Given the description of an element on the screen output the (x, y) to click on. 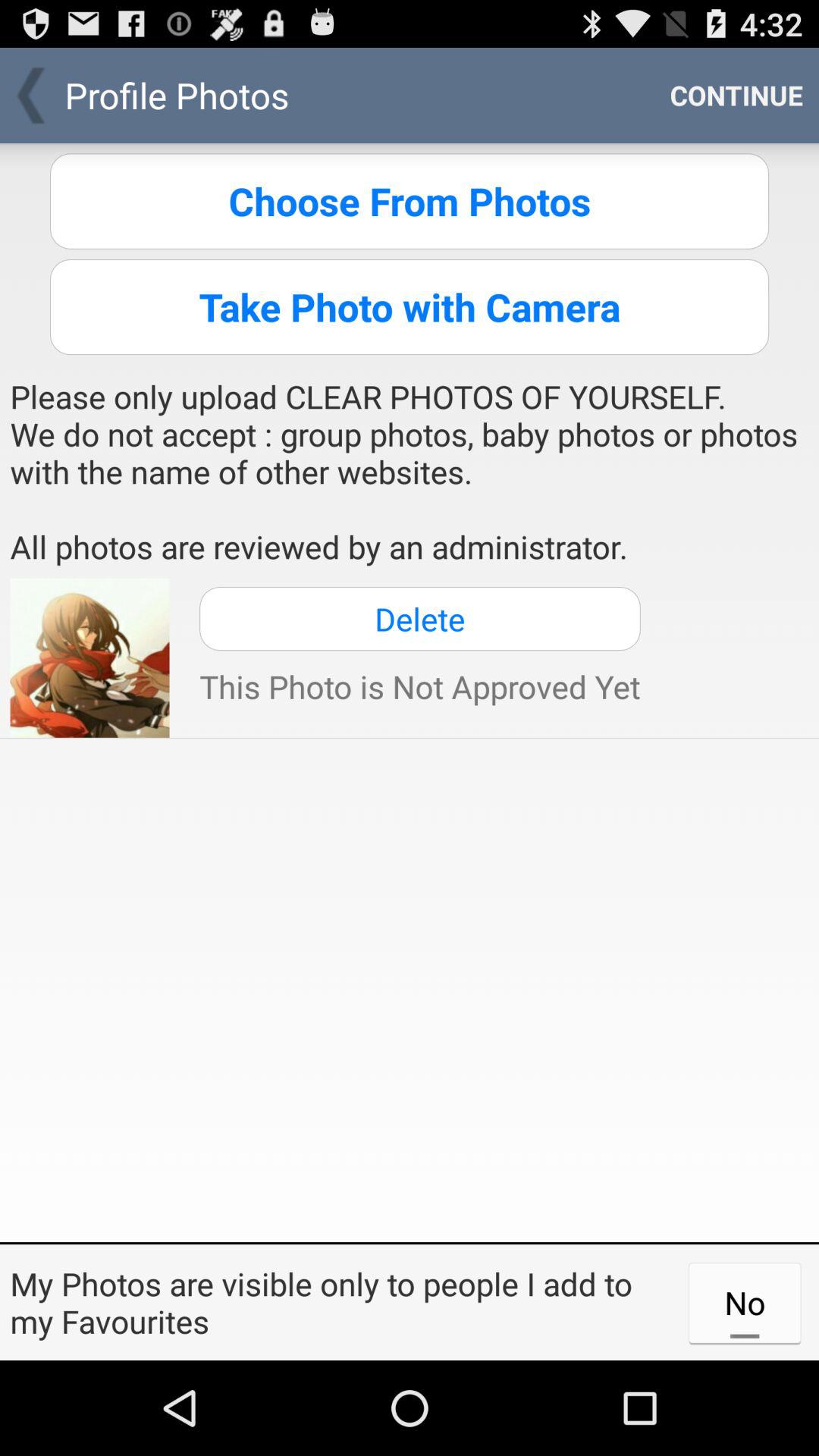
flip until no (744, 1302)
